Given the description of an element on the screen output the (x, y) to click on. 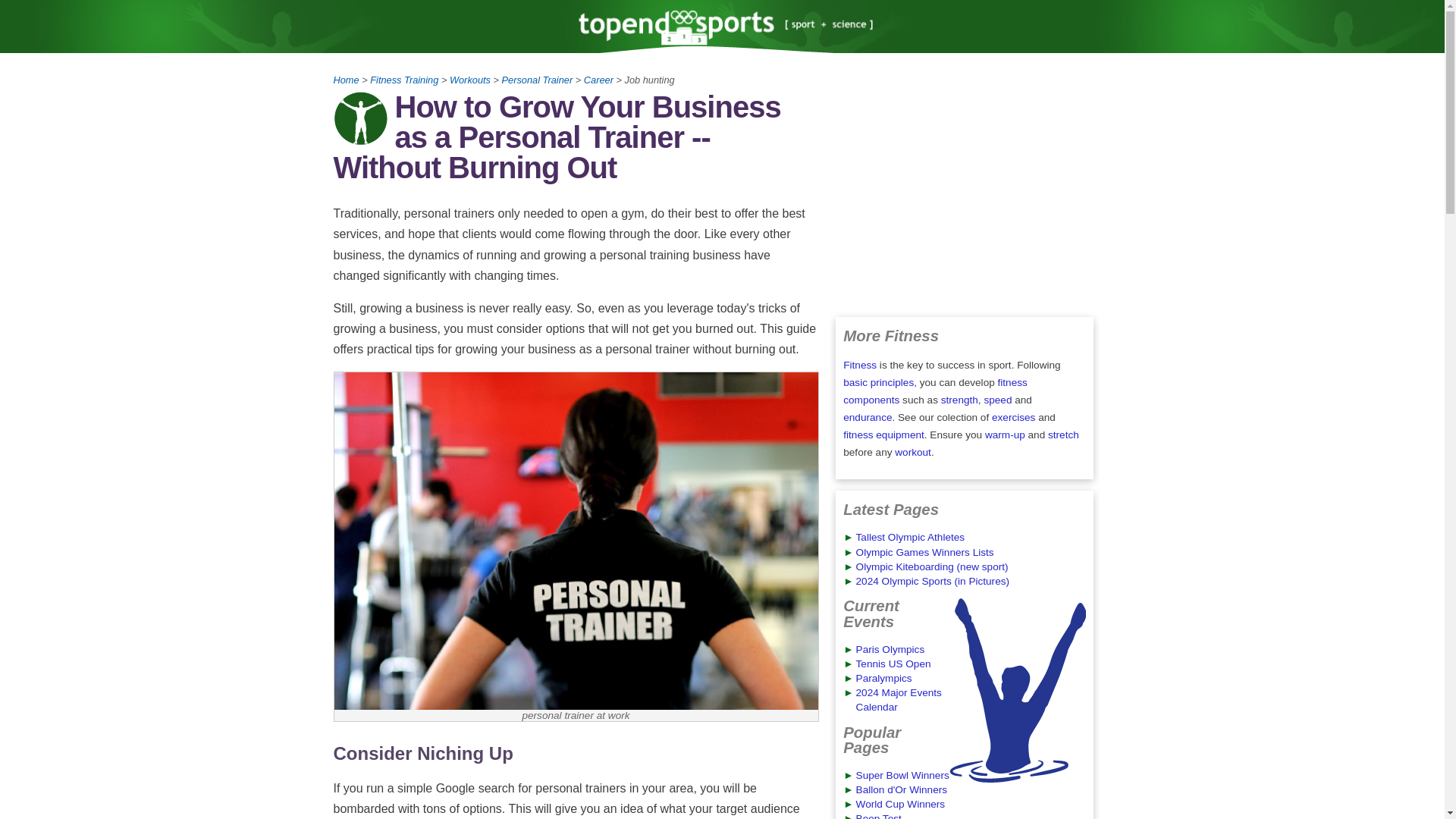
Olympic Games Winners Lists (925, 551)
stretch (1063, 434)
endurance (867, 417)
Home (346, 79)
Tennis US Open (893, 663)
exercises (1013, 417)
speed (997, 399)
Personal Trainer (537, 79)
workout (913, 451)
Workouts (469, 79)
